Given the description of an element on the screen output the (x, y) to click on. 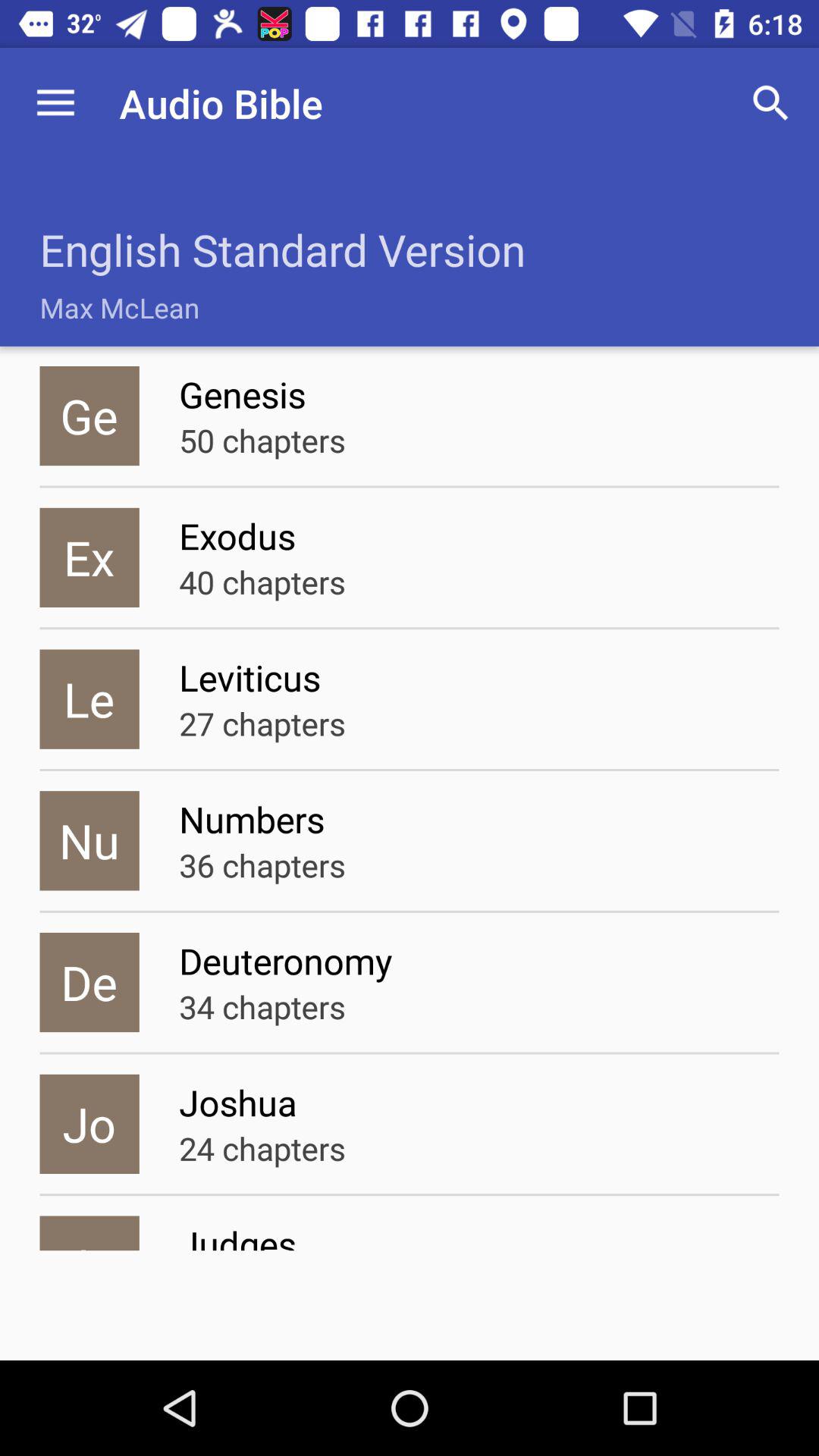
open icon to the left of audio bible icon (55, 103)
